Given the description of an element on the screen output the (x, y) to click on. 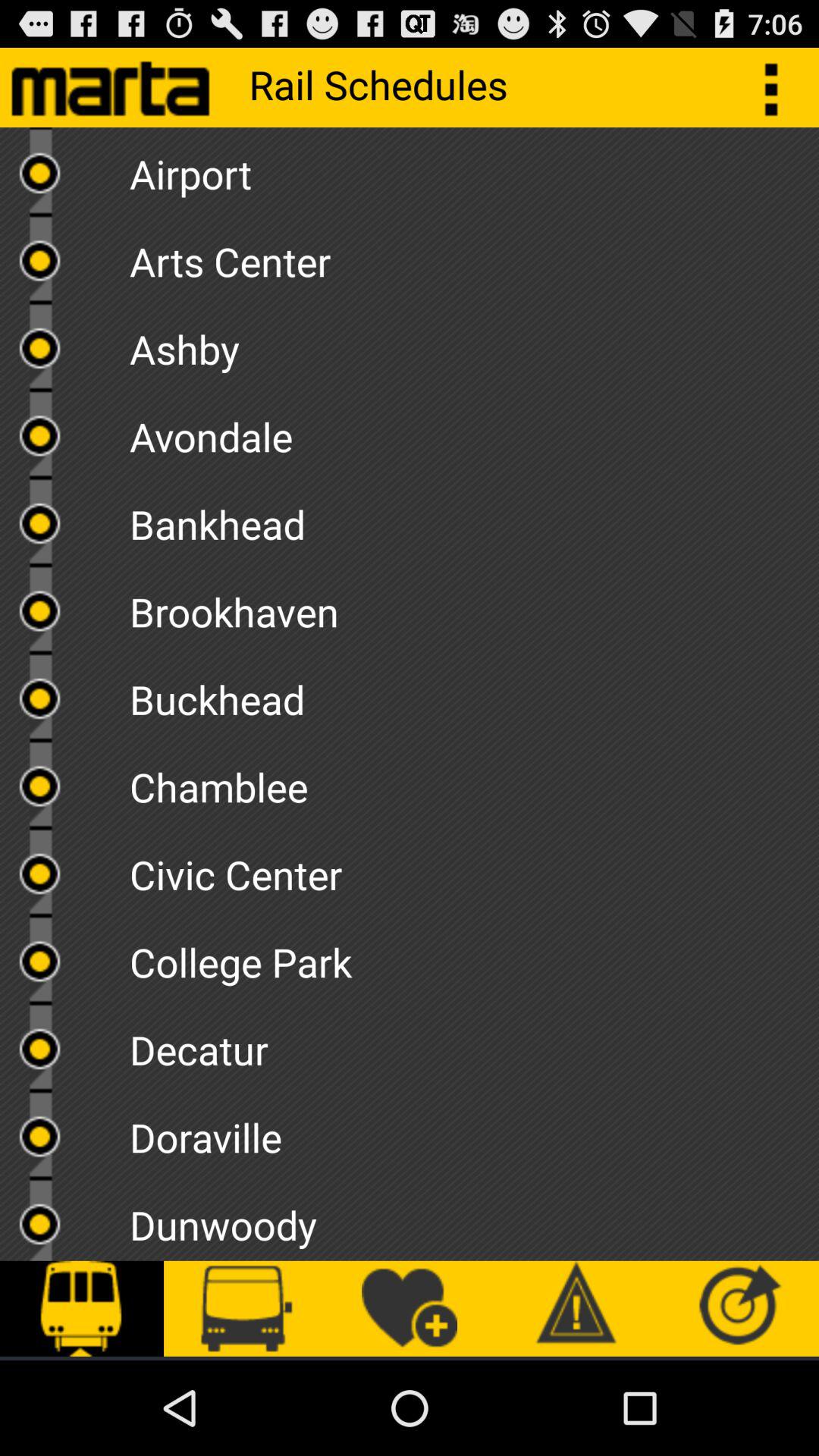
flip until the doraville (474, 1131)
